Given the description of an element on the screen output the (x, y) to click on. 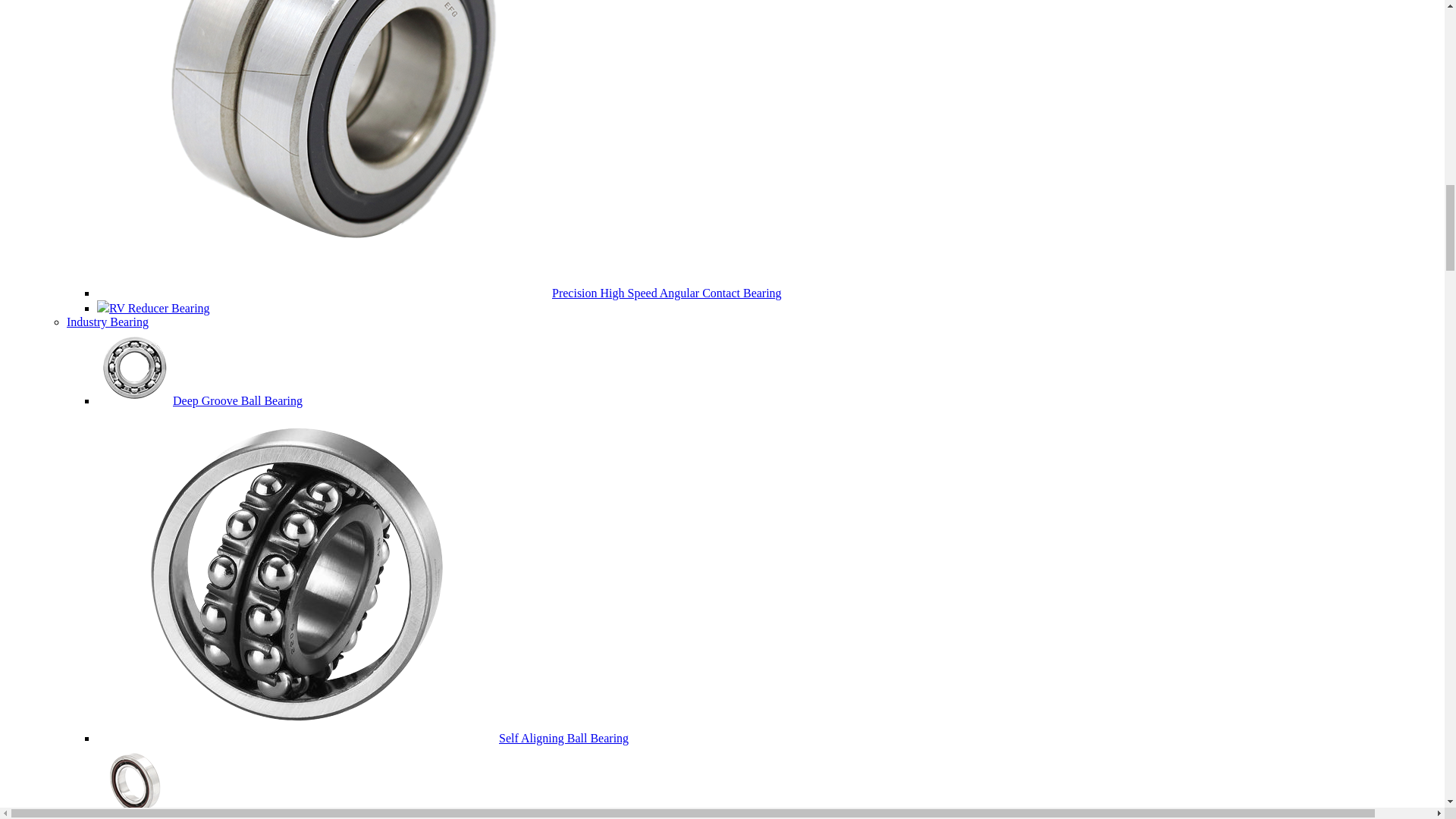
Industry Bearing (107, 321)
